Given the description of an element on the screen output the (x, y) to click on. 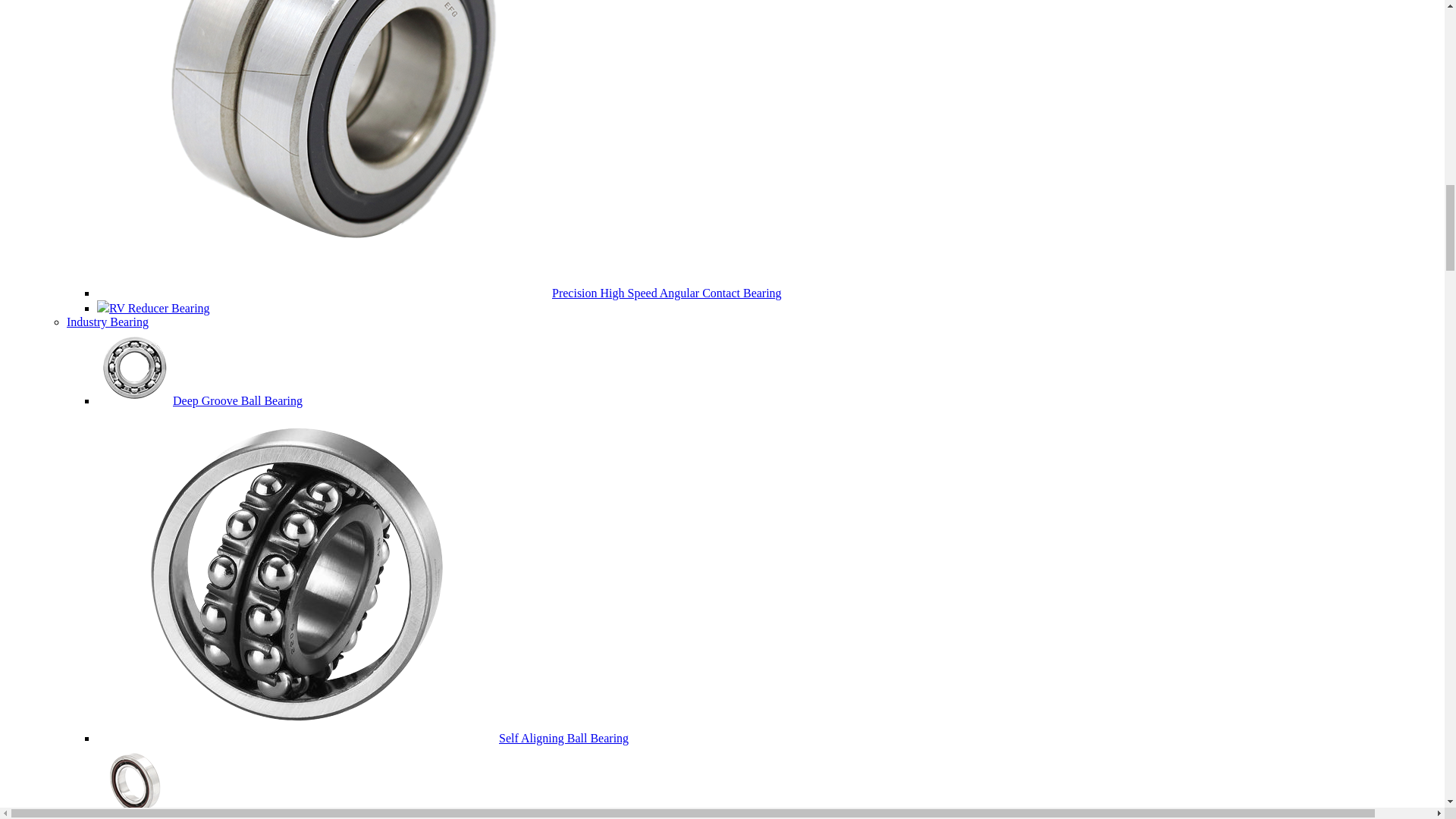
Industry Bearing (107, 321)
